Given the description of an element on the screen output the (x, y) to click on. 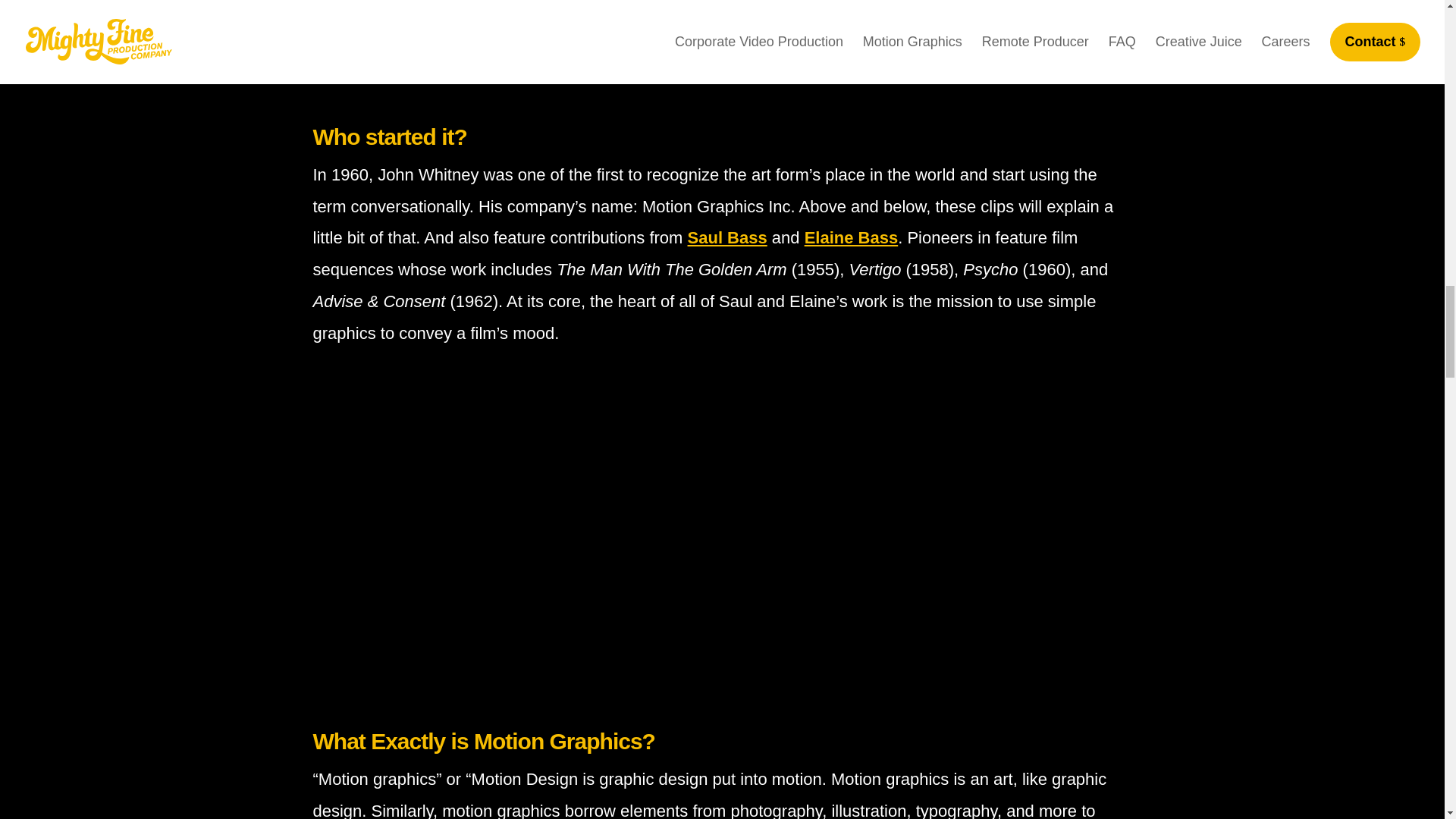
Elaine Bass (851, 237)
Saul Bass (727, 237)
After Effects (385, 58)
